Given the description of an element on the screen output the (x, y) to click on. 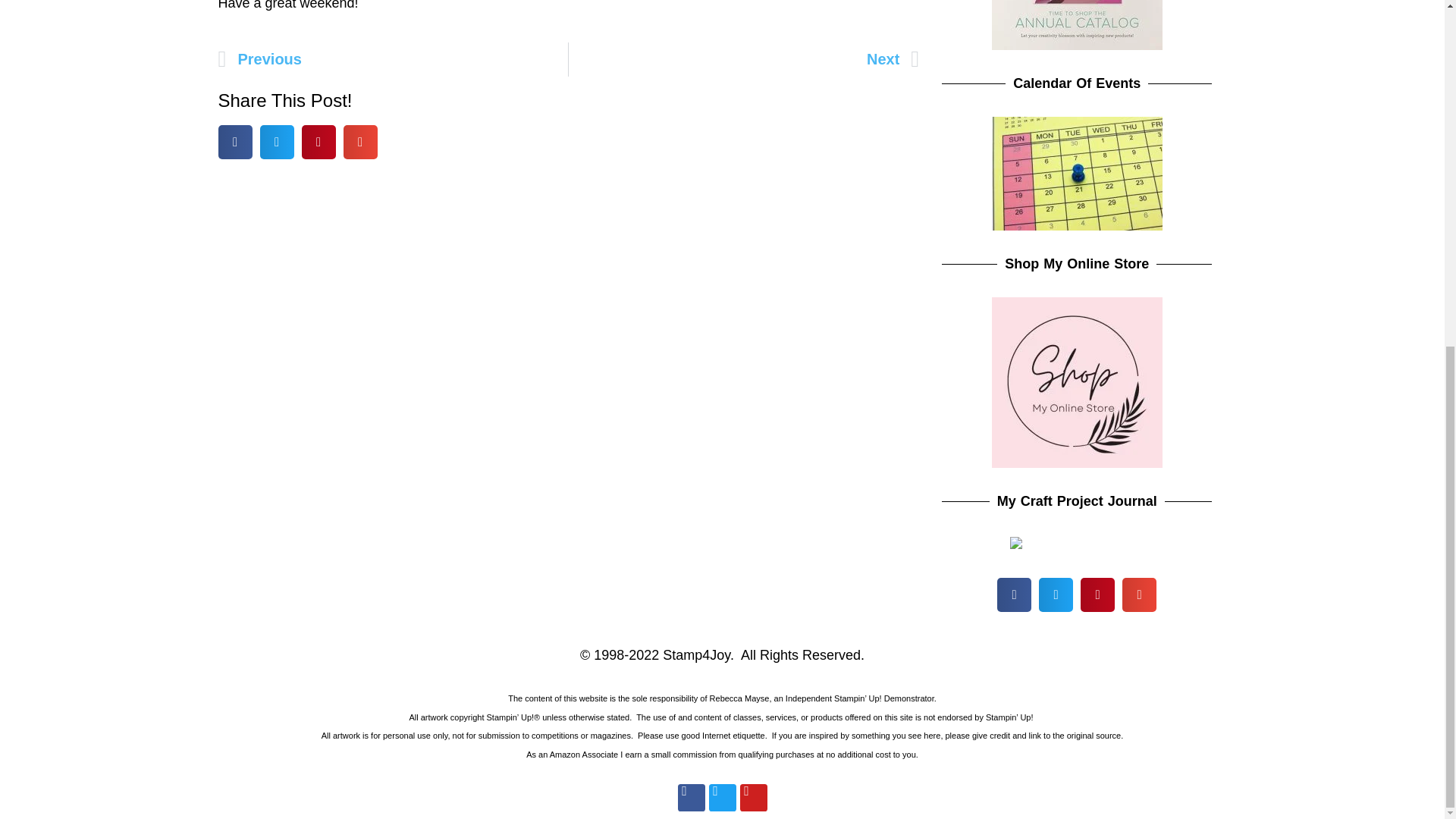
Next (743, 59)
Previous (393, 59)
Copy of Pink Updated Shop Online Store 4th (1076, 382)
Stamp4Joy Calendar of Events (1076, 173)
